Given the description of an element on the screen output the (x, y) to click on. 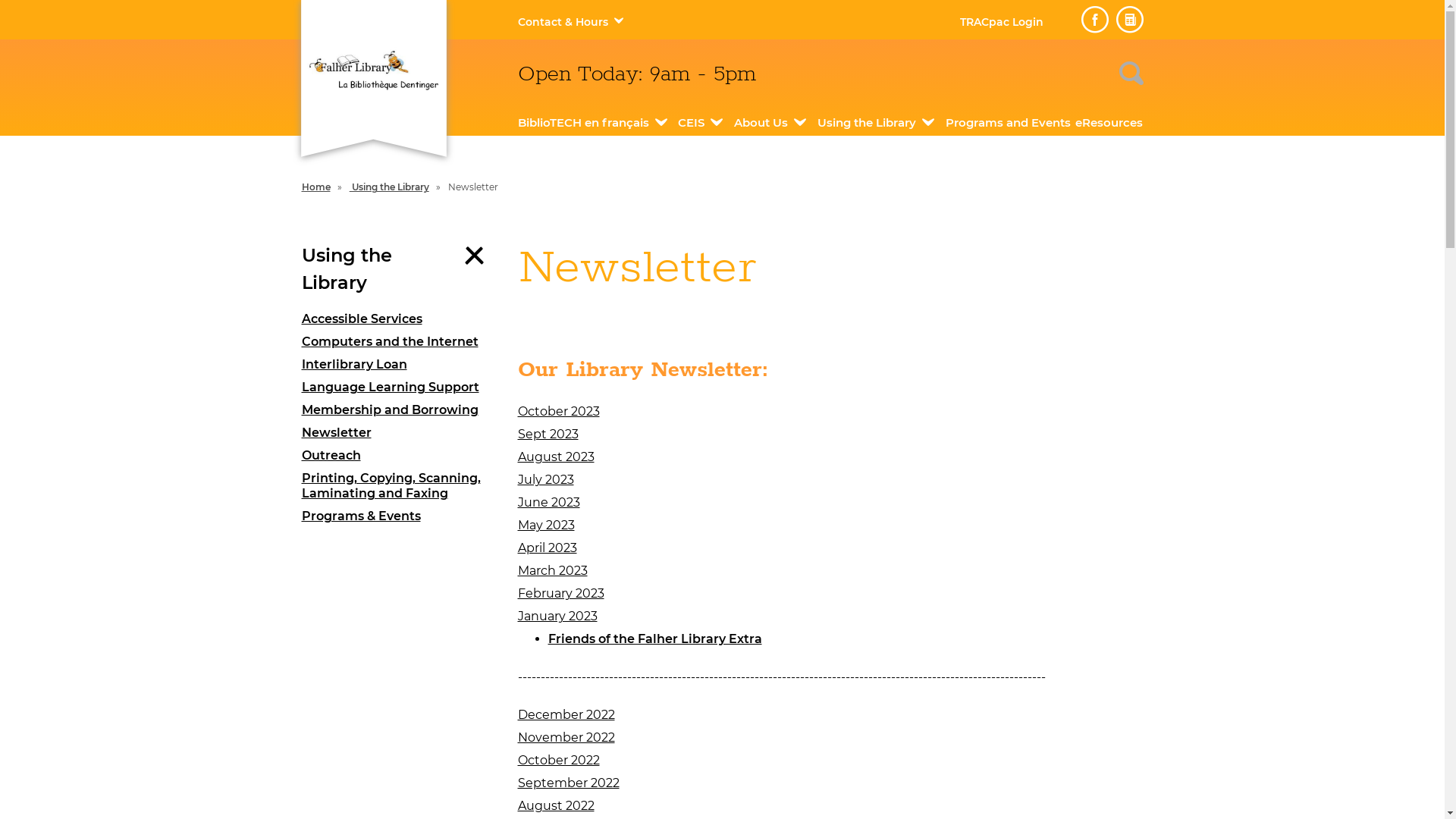
Contact & Hours Element type: text (562, 21)
Sept 2023 Element type: text (547, 433)
June 2023 Element type: text (548, 502)
Using the Library
Toggle navigation Element type: text (398, 268)
August 2022 Element type: text (555, 805)
Language Learning Support Element type: text (398, 387)
Printing, Copying, Scanning, Laminating and Faxing Element type: text (398, 486)
July 2023 Element type: text (545, 479)
January 2023 Element type: text (556, 615)
Programs and Events Element type: text (1007, 122)
September 2022 Element type: text (567, 782)
Using the Library Element type: text (389, 186)
October 2023 Element type: text (558, 411)
About Us Element type: text (760, 122)
November 2022 Element type: text (565, 737)
February 2023 Element type: text (560, 593)
eResources Element type: text (1108, 122)
Outreach Element type: text (398, 455)
Facebook Element type: hover (1094, 19)
April 2023 Element type: text (546, 547)
Newsletter sign up Element type: hover (1129, 19)
October 2022 Element type: text (558, 760)
Membership and Borrowing Element type: text (398, 409)
March 2023 Element type: text (551, 570)
December 2022 Element type: text (565, 714)
Computers and the Internet Element type: text (398, 341)
CEIS Element type: text (690, 122)
TRACpac Login Element type: text (1001, 21)
Home Element type: text (315, 186)
Newsletter Element type: text (398, 432)
Accessible Services Element type: text (398, 318)
Using the Library Element type: text (866, 122)
August 2023 Element type: text (555, 456)
May 2023 Element type: text (545, 524)
Friends of the Falher Library Extra Element type: text (654, 638)
Interlibrary Loan Element type: text (398, 364)
Programs & Events Element type: text (398, 516)
